Given the description of an element on the screen output the (x, y) to click on. 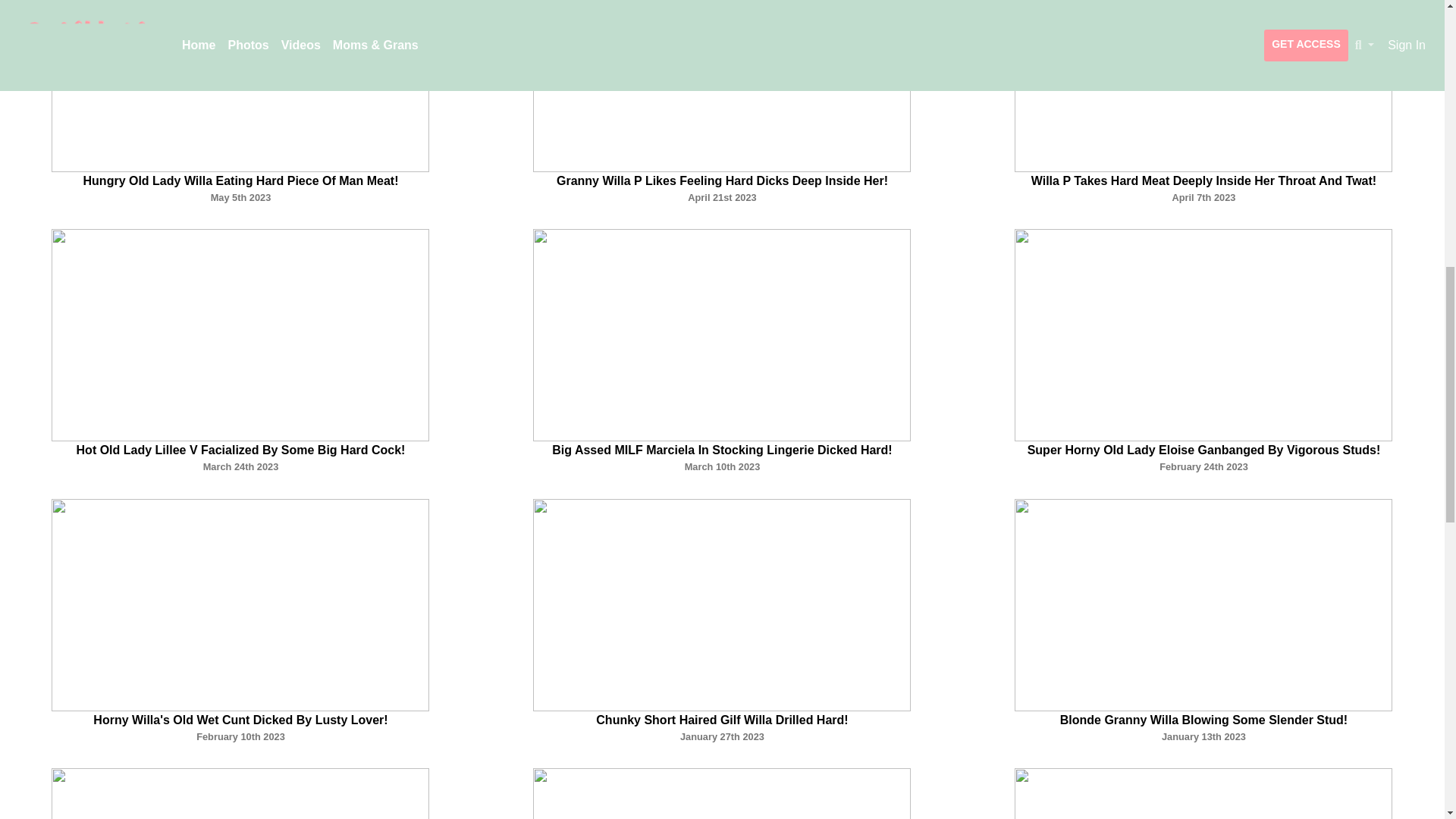
Hungry Old Lady Willa Eating Hard Piece Of Man Meat! (240, 180)
Willa P Takes Hard Meat Deeply Inside Her Throat And Twat! (1202, 180)
Hot Old Lady Lillee V Facialized By Some Big Hard Cock! (241, 449)
Super Horny Old Lady Eloise Ganbanged By Vigorous Studs! (1203, 449)
Big Assed MILF Marciela In Stocking Lingerie Dicked Hard! (721, 449)
Granny Willa P Likes Feeling Hard Dicks Deep Inside Her! (722, 180)
